Given the description of an element on the screen output the (x, y) to click on. 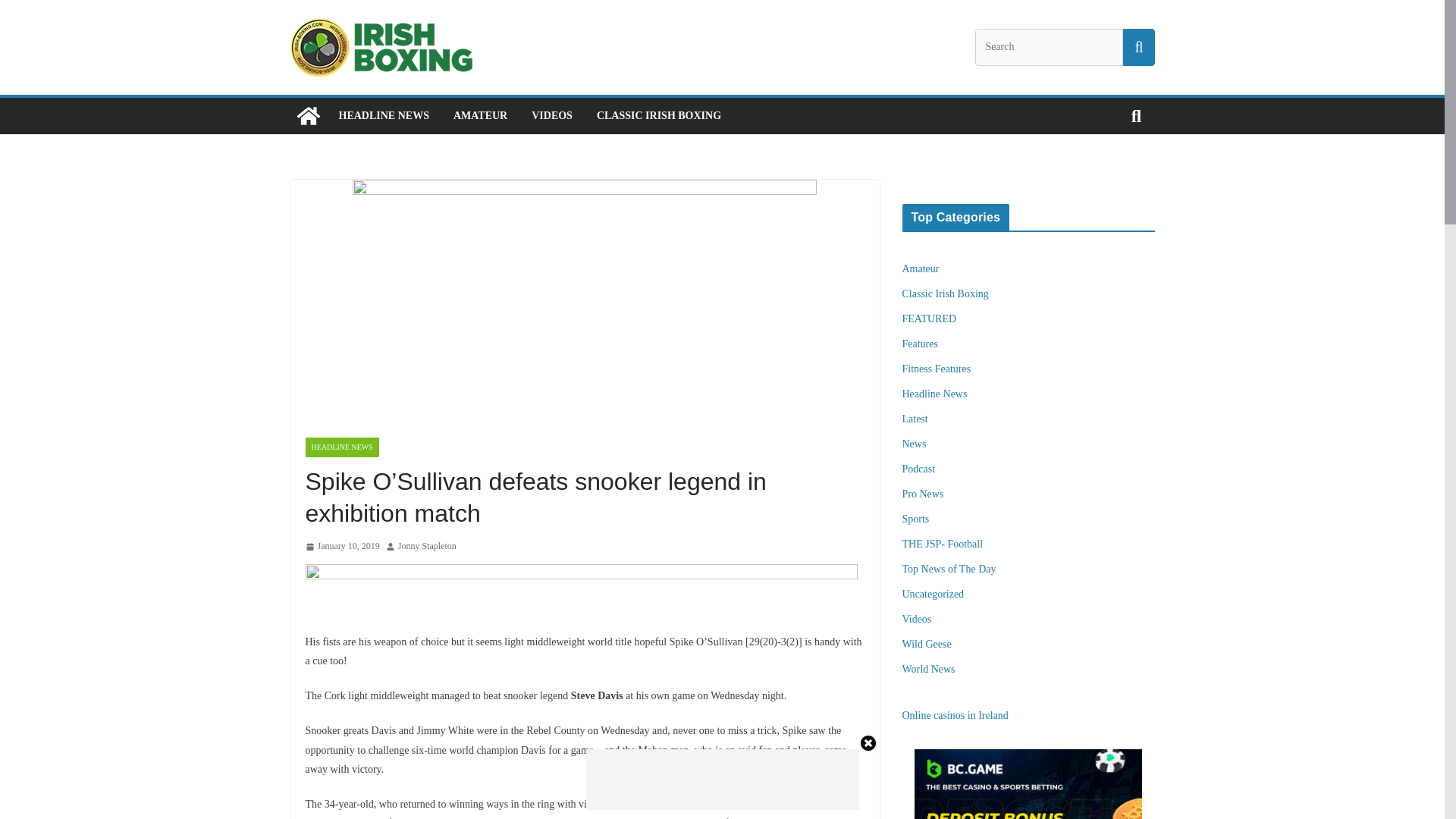
HEADLINE NEWS (341, 447)
Latest (915, 419)
FEATURED (929, 318)
Jonny Stapleton (427, 546)
Amateur (920, 268)
HEADLINE NEWS (382, 115)
January 10, 2019 (341, 546)
Classic Irish Boxing (945, 293)
Fitness Features (936, 368)
VIDEOS (551, 115)
Headline News (935, 393)
Jonny Stapleton (427, 546)
CLASSIC IRISH BOXING (658, 115)
News (914, 443)
Features (919, 343)
